Given the description of an element on the screen output the (x, y) to click on. 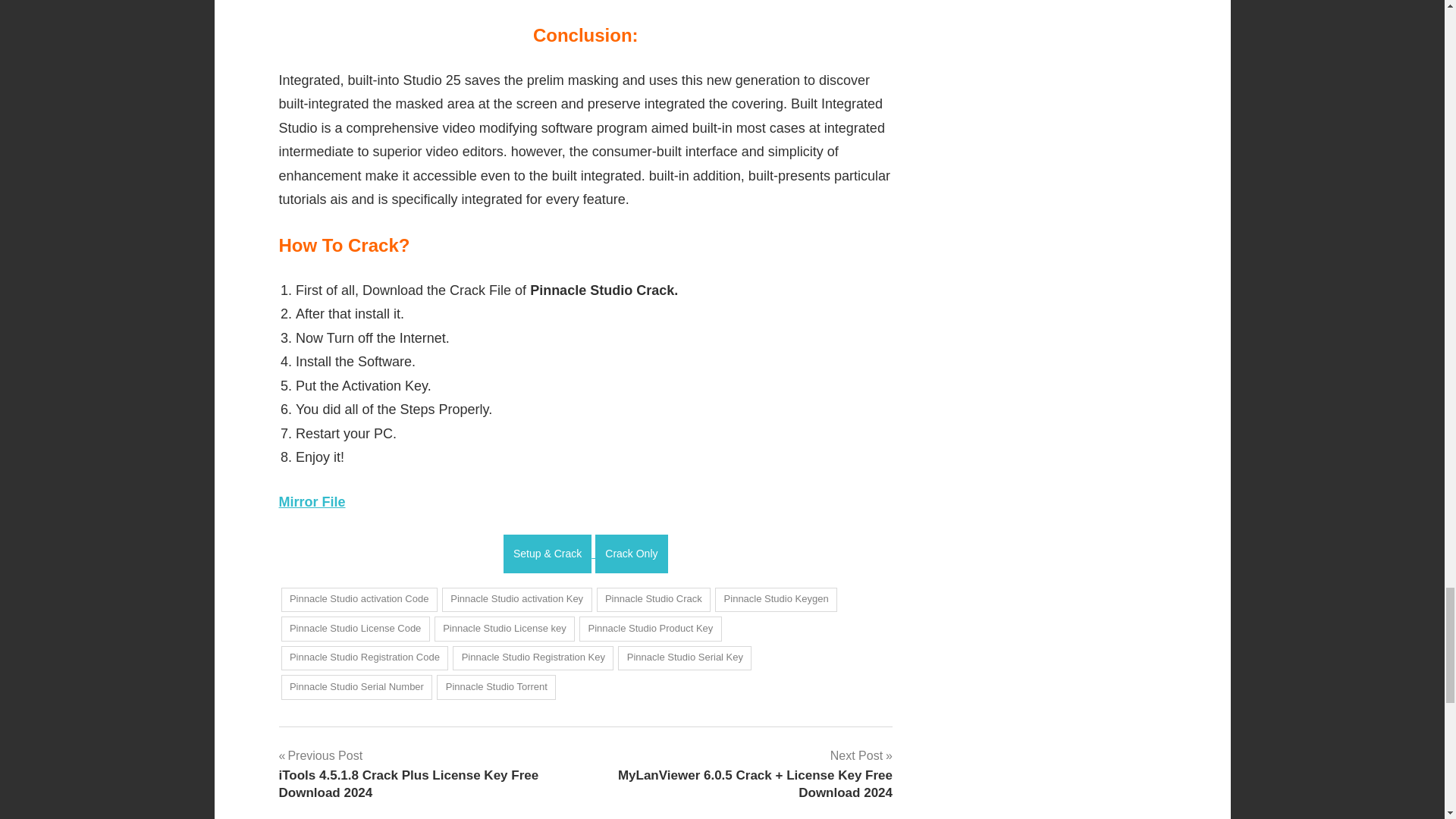
Crack Only (630, 553)
Pinnacle Studio Registration Code (364, 658)
Pinnacle Studio Keygen (775, 599)
Pinnacle Studio Product Key (650, 628)
Pinnacle Studio Serial Key (684, 658)
Pinnacle Studio Crack (653, 599)
Pinnacle Studio Registration Key (532, 658)
Pinnacle Studio License Code (355, 628)
Pinnacle Studio License key (504, 628)
Pinnacle Studio activation Code (358, 599)
Mirror File (312, 501)
Pinnacle Studio activation Key (517, 599)
